Given the description of an element on the screen output the (x, y) to click on. 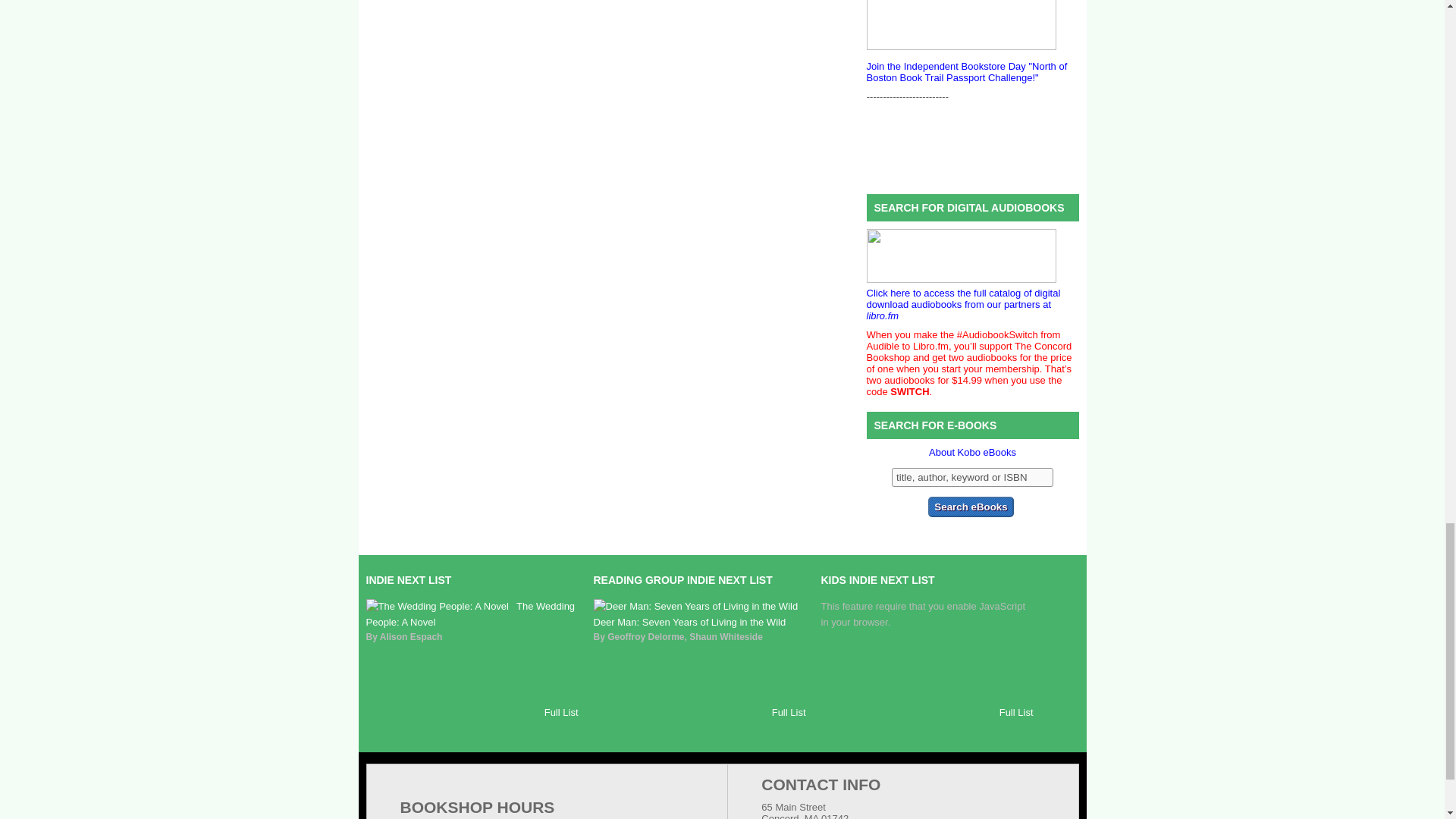
title, author, keyword or ISBN (971, 476)
Search eBooks (970, 506)
The Wedding People: A Novel - by Alison Espach (470, 614)
Enter title, author, keyword or ISBN. (971, 476)
The Wedding People: A Novel - by Alison Espach (436, 605)
